Given the description of an element on the screen output the (x, y) to click on. 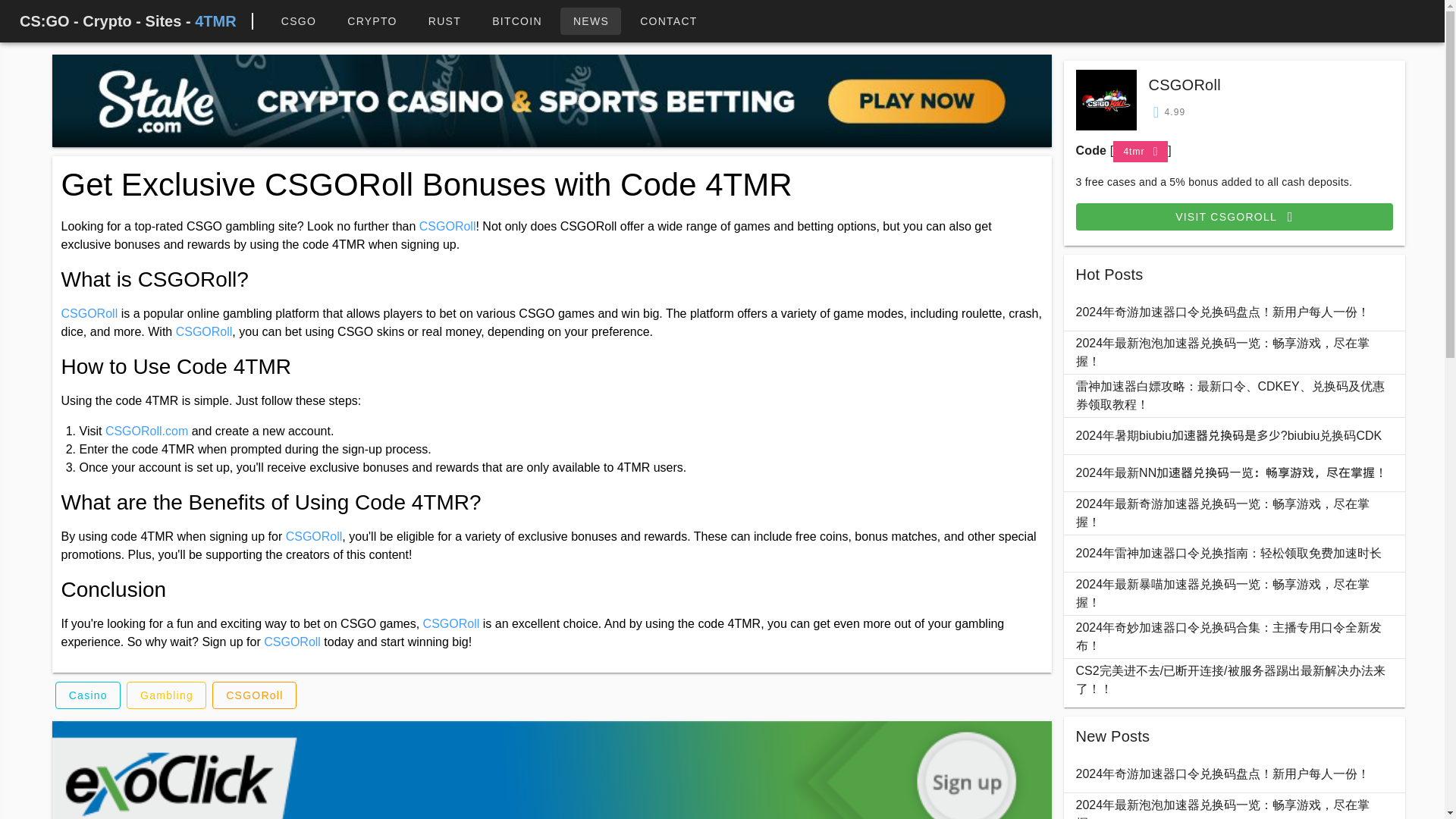
CSGO (298, 21)
ExoClick - Advanced Ad Platform to Monetize at Scale (550, 770)
RUST (443, 21)
CONTACT (668, 21)
posts (590, 21)
Crypto (371, 21)
Contact (668, 21)
BITCOIN (516, 21)
NEWS (590, 21)
RUST (443, 21)
Bitcoin (516, 21)
CSGO (298, 21)
CRYPTO (371, 21)
